Given the description of an element on the screen output the (x, y) to click on. 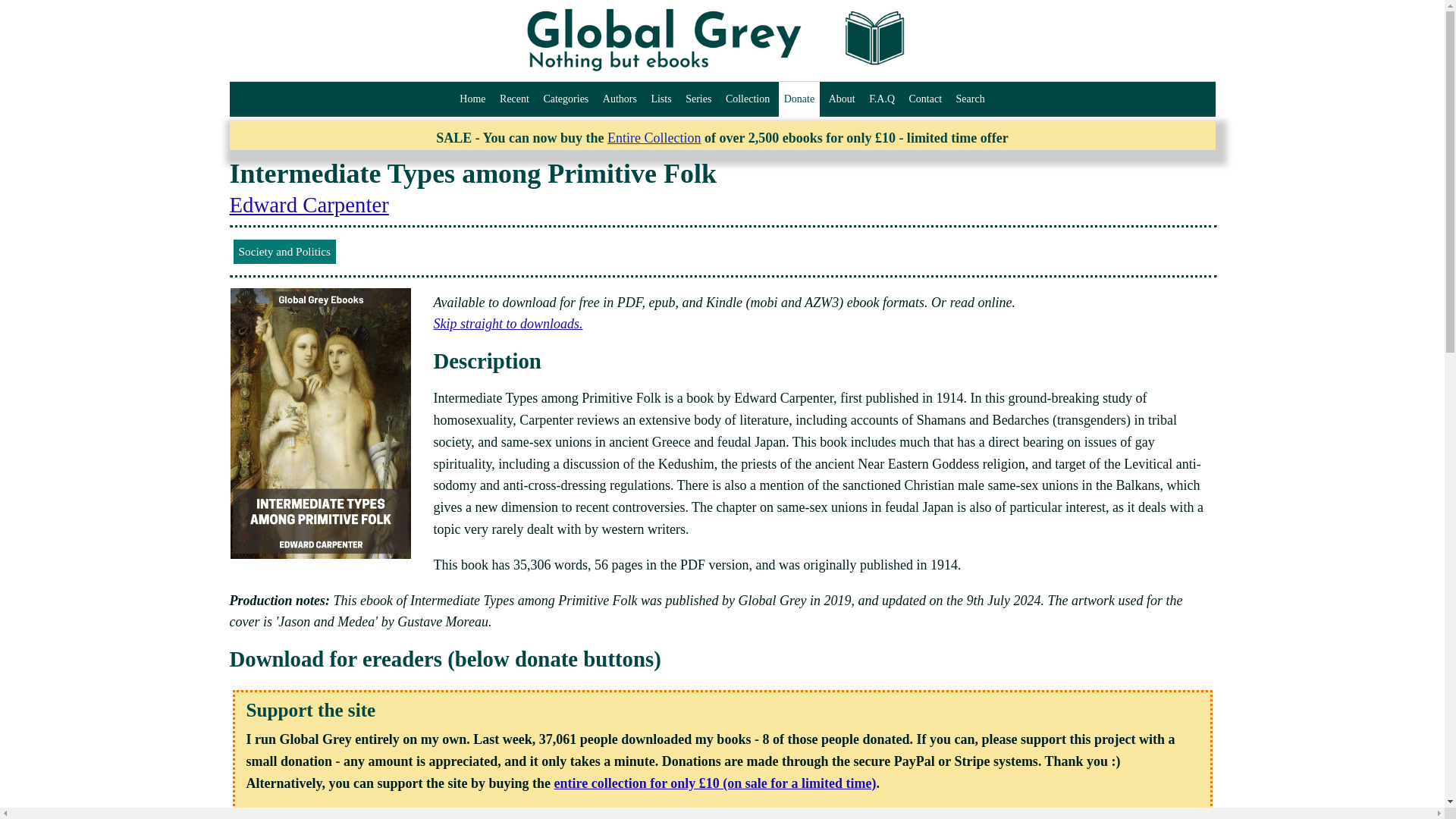
Recently Added (514, 99)
Recent (514, 99)
Contact (925, 99)
Lists (661, 99)
Collection (747, 99)
F.A.Q (881, 99)
Series (697, 99)
F.A.Q (881, 99)
Search (970, 99)
